Given the description of an element on the screen output the (x, y) to click on. 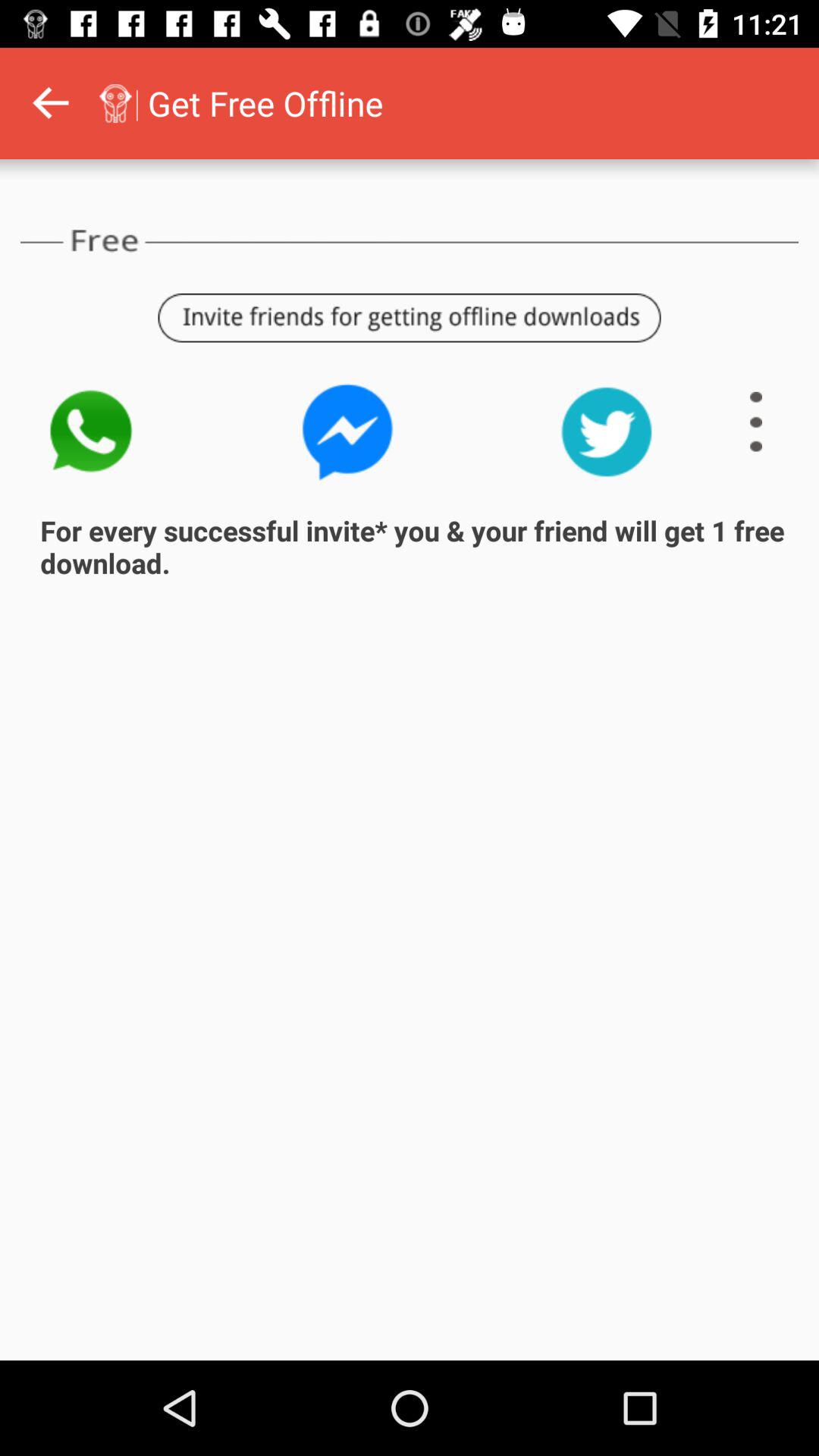
go back (50, 102)
